Given the description of an element on the screen output the (x, y) to click on. 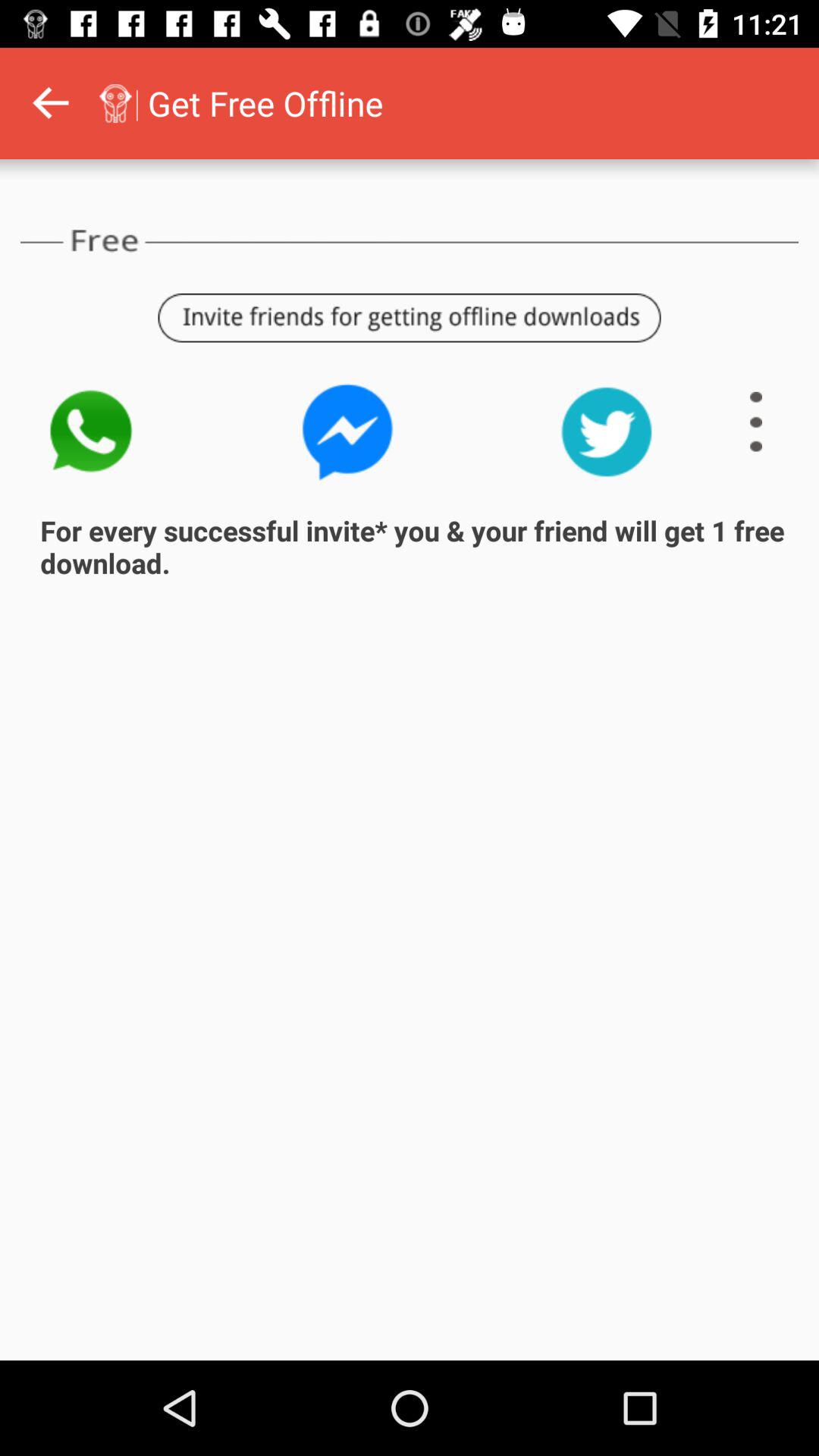
go back (50, 102)
